Given the description of an element on the screen output the (x, y) to click on. 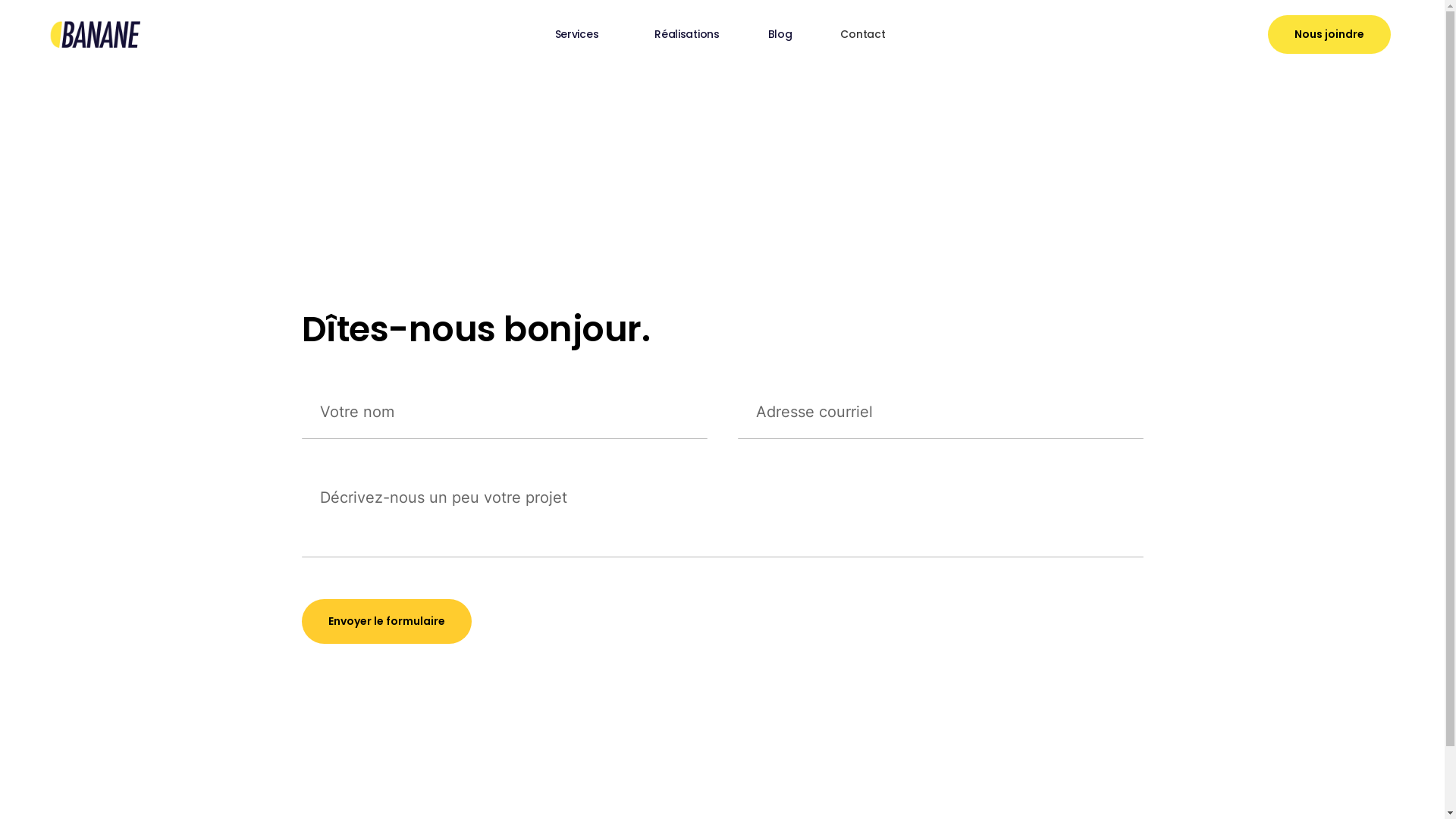
Contact Element type: text (862, 33)
Nous joindre Element type: text (1328, 34)
Blog Element type: text (779, 33)
Envoyer le formulaire Element type: text (386, 621)
Services Element type: text (580, 33)
